Given the description of an element on the screen output the (x, y) to click on. 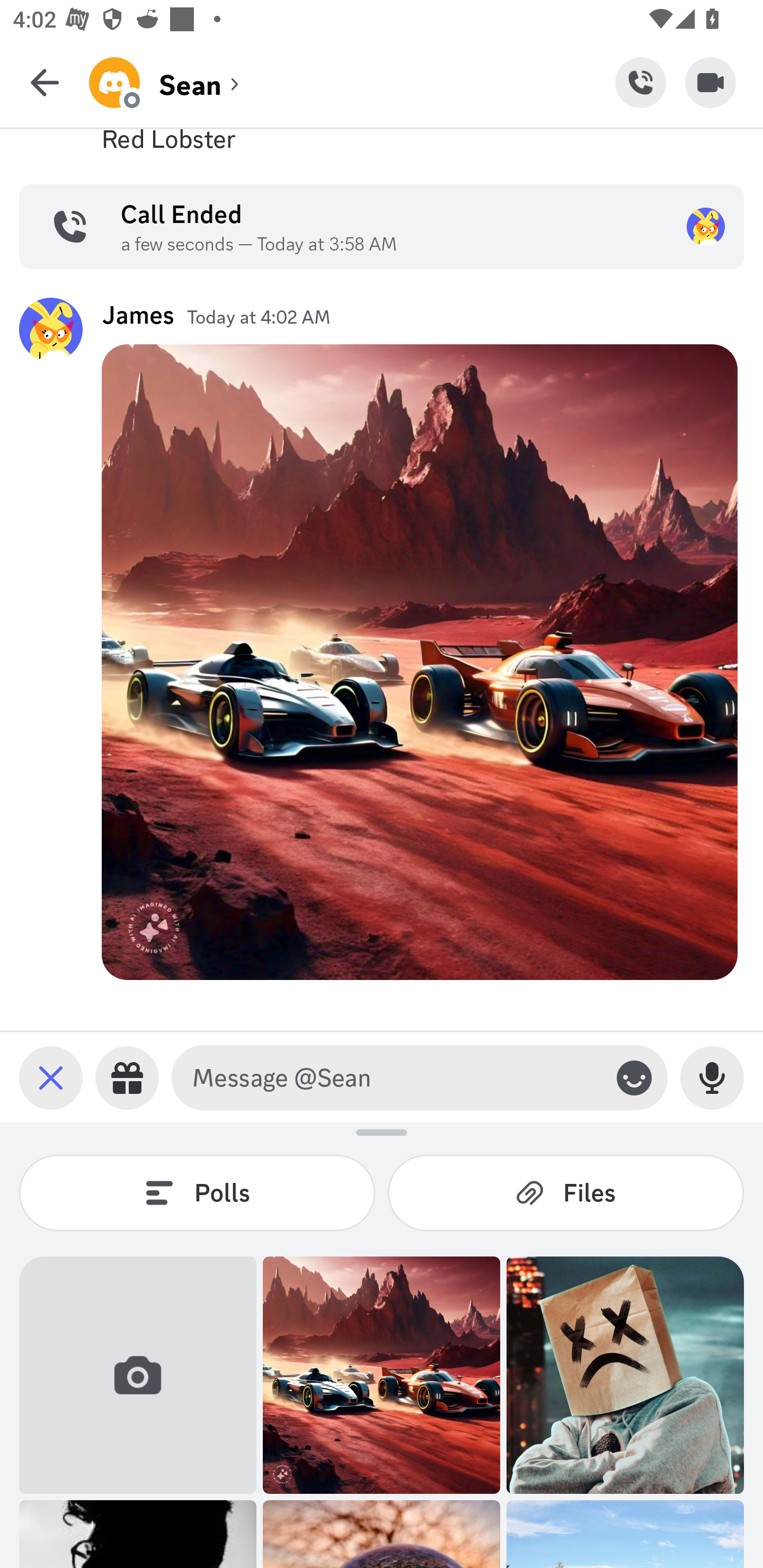
Sean (channel) Sean Sean (channel) (351, 82)
Back (44, 82)
Start Voice Call (640, 82)
Start Video Call (710, 82)
Search (381, 159)
Call Ended a few seconds — Today at 3:58 AM (381, 227)
James (137, 313)
Toggle media keyboard (50, 1077)
Send a gift (126, 1077)
Record Voice Message (711, 1077)
Message @Sean (395, 1077)
Toggle emoji keyboard (634, 1077)
Polls (197, 1192)
Files (565, 1192)
Camera (137, 1374)
Photo (381, 1374)
Photo (624, 1374)
